Given the description of an element on the screen output the (x, y) to click on. 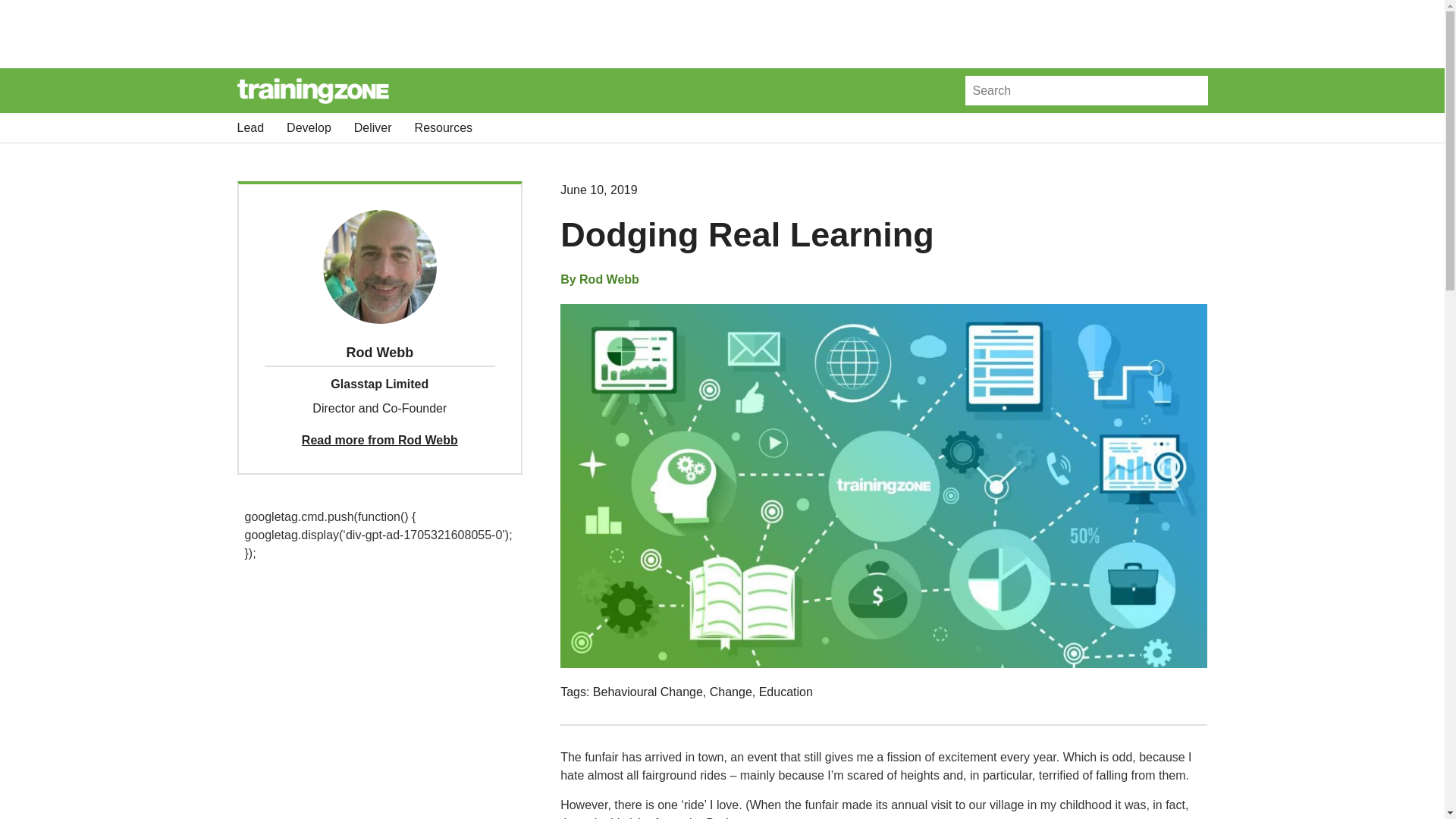
Behavioural Change (647, 691)
Develop (308, 127)
Lead (249, 127)
Deliver (372, 127)
Change (731, 691)
Read more from Rod Webb (379, 440)
By Rod Webb (599, 280)
Resources (442, 127)
